Given the description of an element on the screen output the (x, y) to click on. 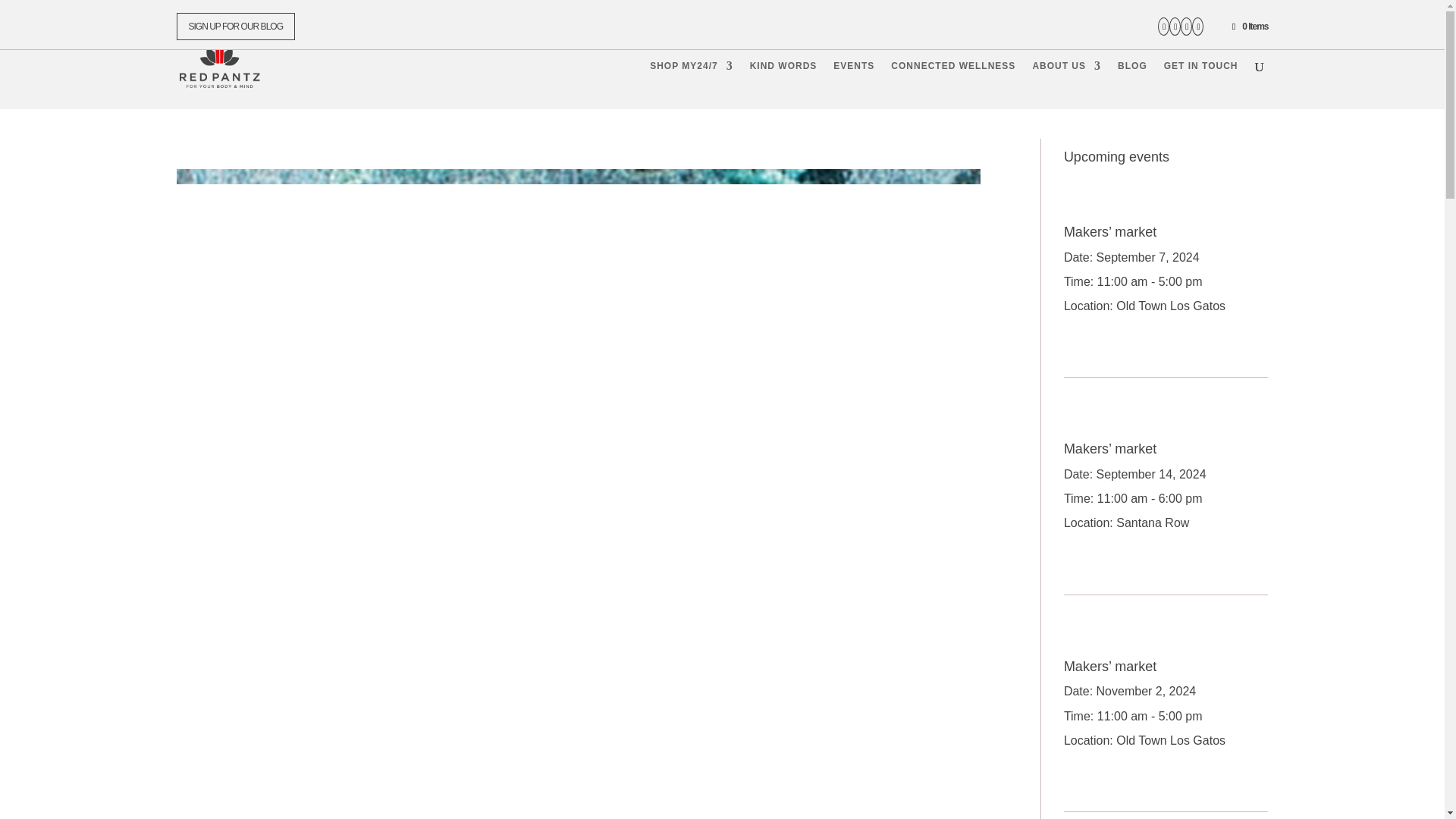
KIND WORDS (782, 84)
ABOUT US (1066, 84)
SIGN UP FOR OUR BLOG (235, 26)
CONNECTED WELLNESS (952, 84)
GET IN TOUCH (1201, 84)
0 Items (1249, 26)
